Given the description of an element on the screen output the (x, y) to click on. 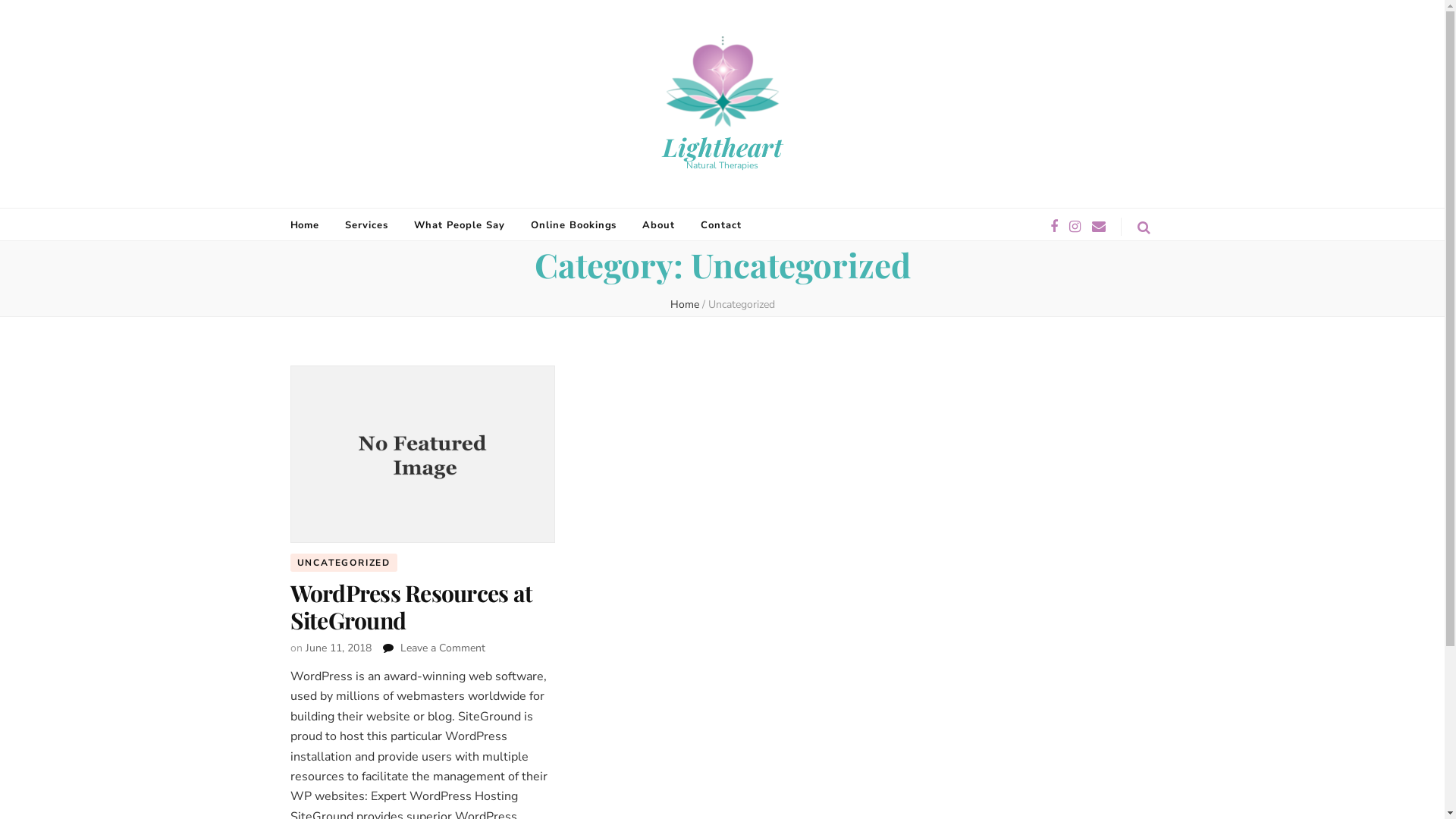
UNCATEGORIZED Element type: text (342, 562)
Home Element type: text (304, 225)
What People Say Element type: text (459, 225)
WordPress Resources at SiteGround Element type: text (410, 606)
Services Element type: text (366, 225)
Contact Element type: text (720, 225)
Lightheart Element type: text (722, 146)
About Element type: text (658, 225)
June 11, 2018 Element type: text (337, 647)
Home Element type: text (684, 304)
Online Bookings Element type: text (573, 225)
Leave a Comment
on WordPress Resources at SiteGround Element type: text (442, 647)
